Given the description of an element on the screen output the (x, y) to click on. 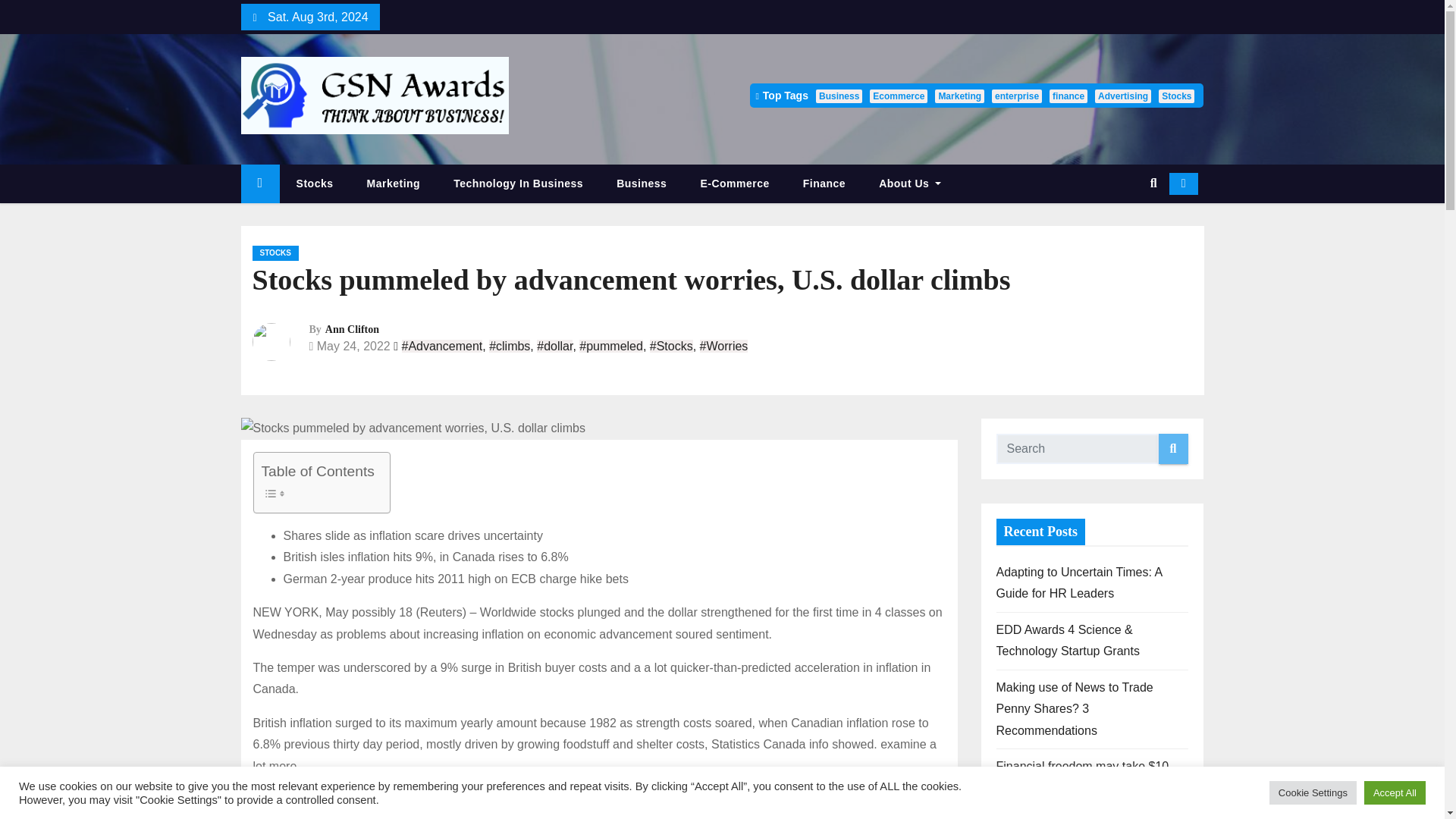
Technology In Business (517, 183)
About Us (909, 183)
Stocks (1175, 96)
Advertising (1122, 96)
Marketing (394, 183)
Stocks (314, 183)
Marketing (394, 183)
enterprise (1016, 96)
E-commerce (734, 183)
Finance (823, 183)
Home (260, 183)
Stocks (314, 183)
Business (838, 96)
Finance (823, 183)
About Us (909, 183)
